Given the description of an element on the screen output the (x, y) to click on. 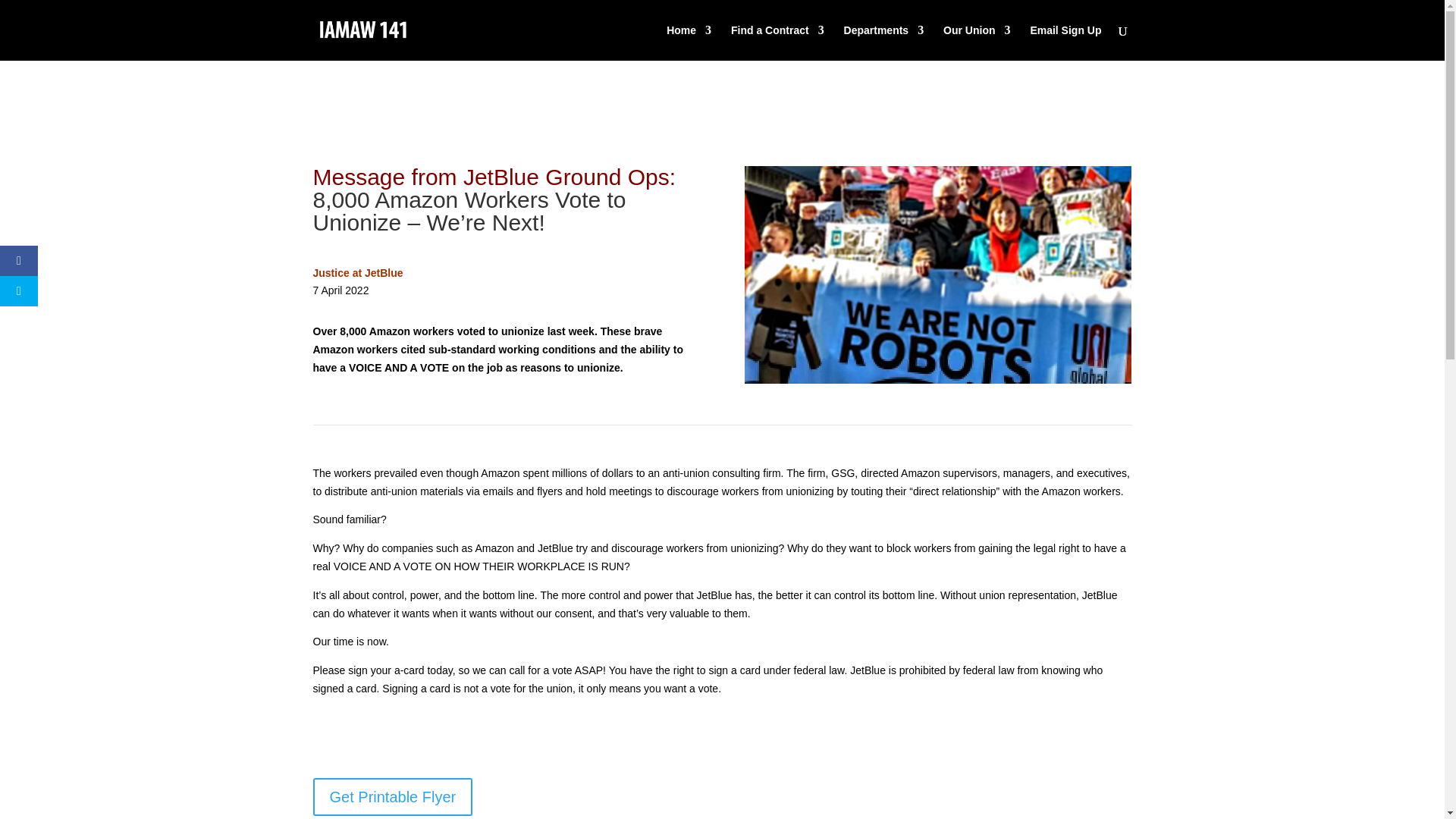
Find a Contract (777, 42)
Departments (884, 42)
Amazon Vote fi (937, 275)
Our Union (976, 42)
Home (688, 42)
